Given the description of an element on the screen output the (x, y) to click on. 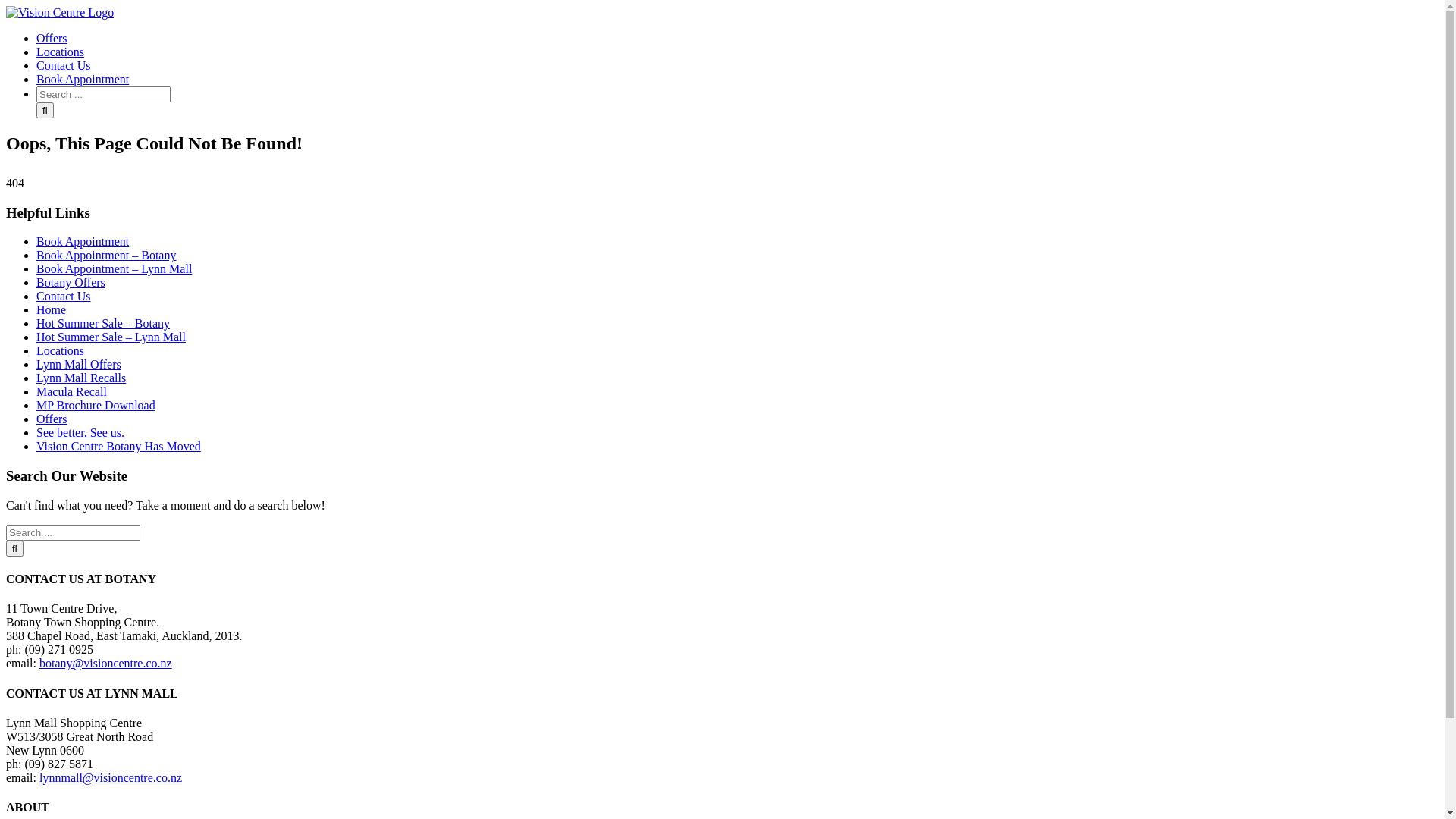
MP Brochure Download Element type: text (95, 404)
Macula Recall Element type: text (71, 391)
Locations Element type: text (60, 51)
See better. See us. Element type: text (80, 432)
Home Element type: text (50, 309)
Contact Us Element type: text (63, 295)
Book Appointment Element type: text (82, 241)
Offers Element type: text (51, 418)
Offers Element type: text (51, 37)
Book Appointment Element type: text (82, 78)
Vision Centre Botany Has Moved Element type: text (118, 445)
Botany Offers Element type: text (70, 282)
botany@visioncentre.co.nz Element type: text (105, 662)
lynnmall@visioncentre.co.nz Element type: text (110, 777)
Locations Element type: text (60, 350)
Contact Us Element type: text (63, 65)
Lynn Mall Recalls Element type: text (80, 377)
Lynn Mall Offers Element type: text (78, 363)
